Given the description of an element on the screen output the (x, y) to click on. 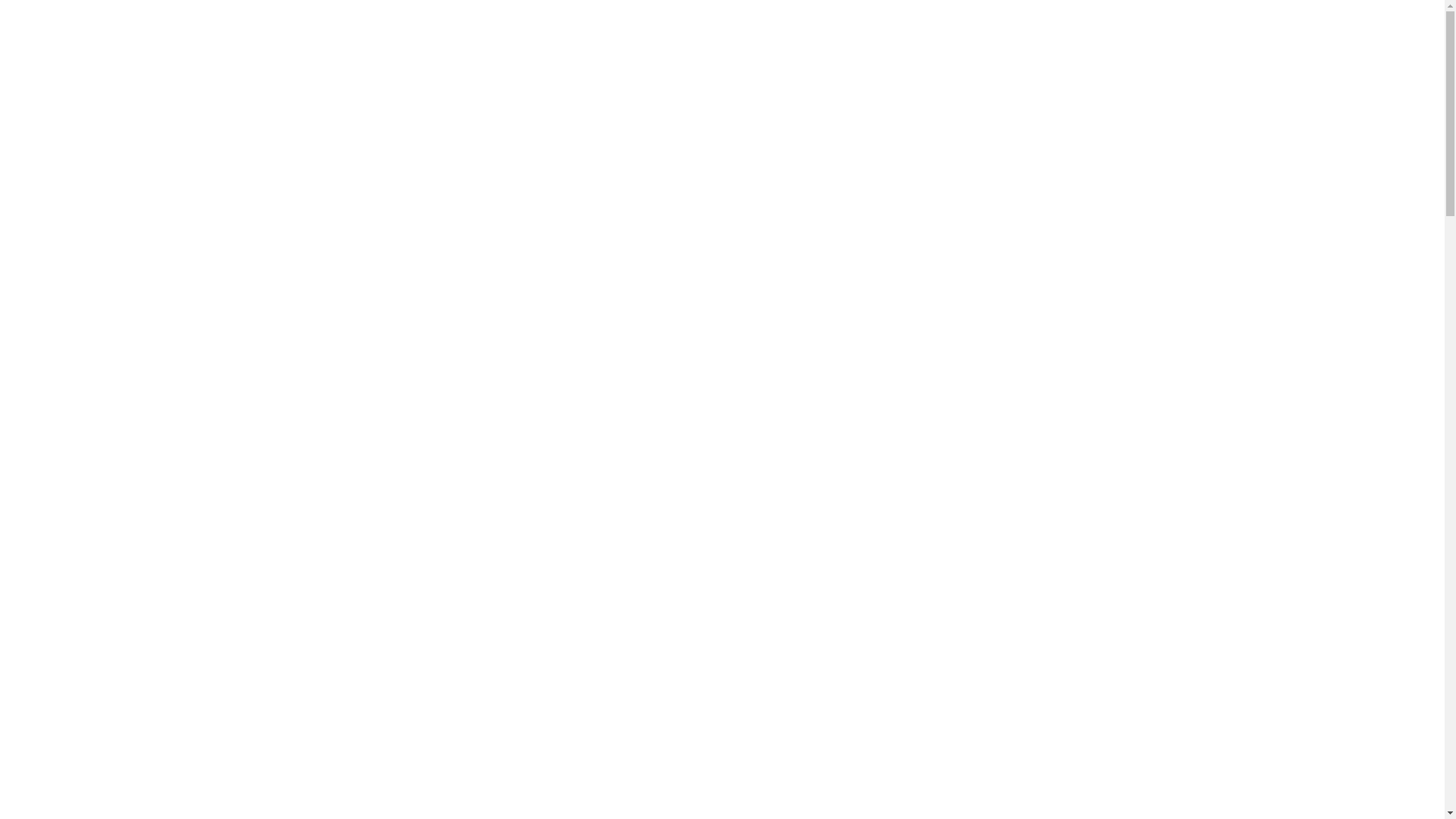
Close and accept Element type: text (1374, 785)
